Given the description of an element on the screen output the (x, y) to click on. 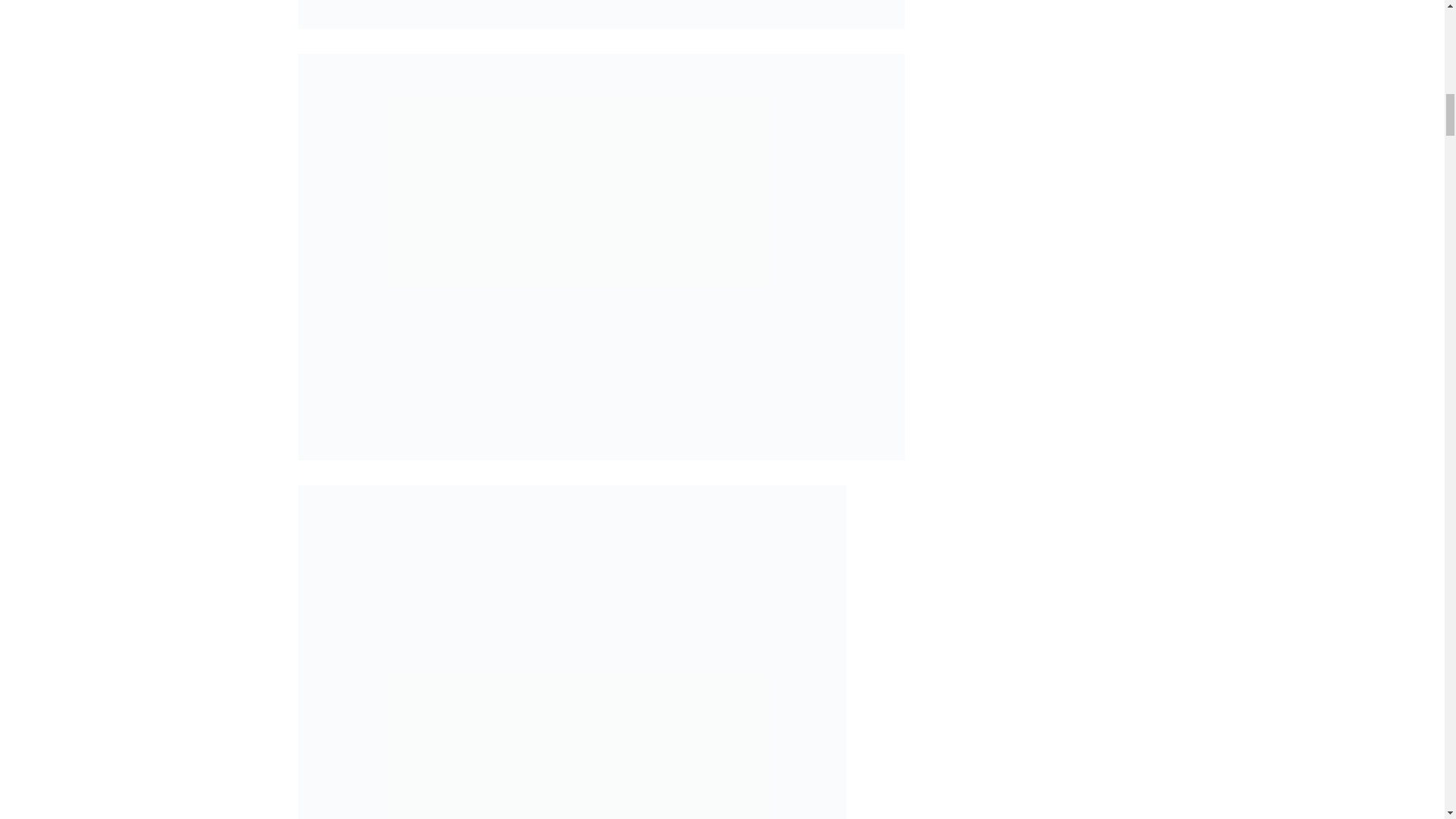
Wengenn a daring circus act (600, 14)
